Given the description of an element on the screen output the (x, y) to click on. 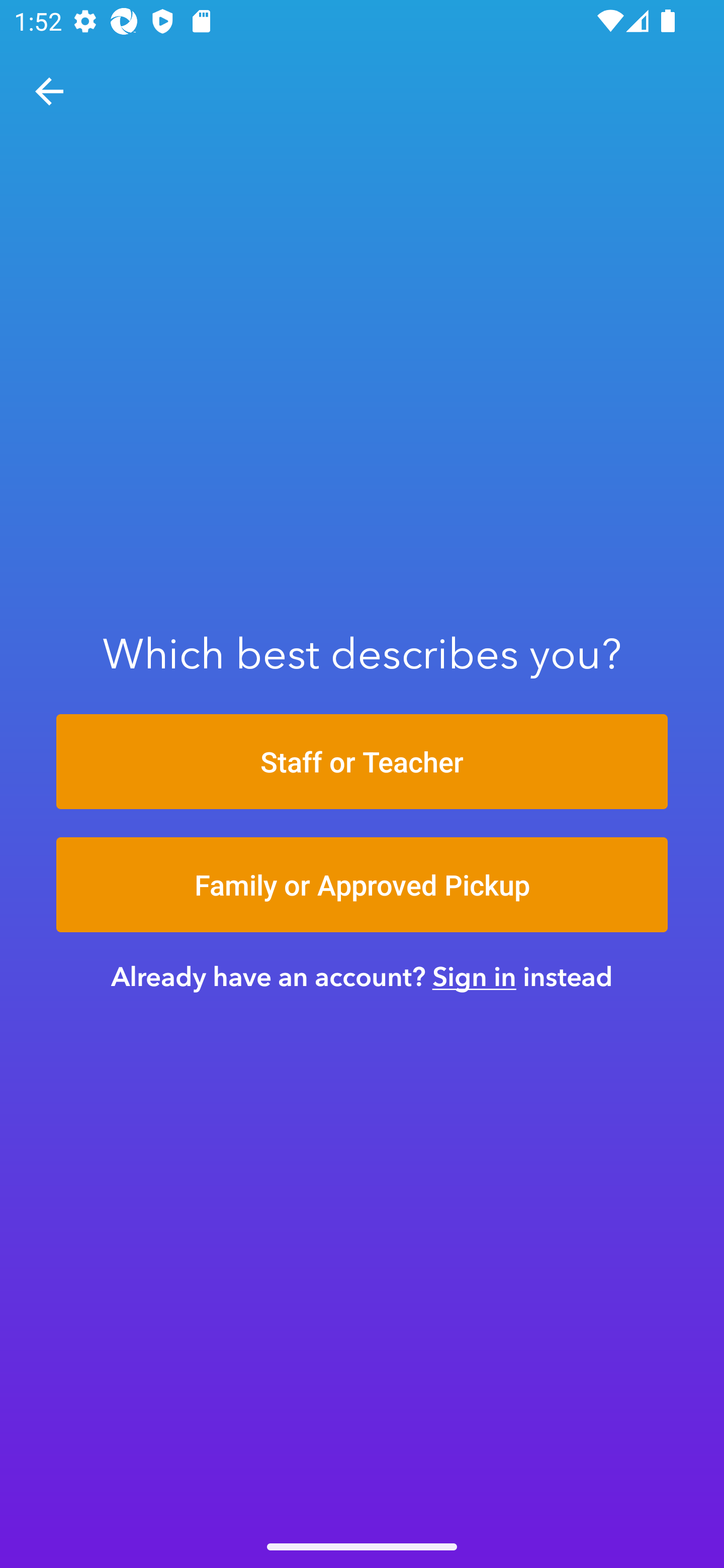
Navigate up (49, 91)
Staff or Teacher (361, 761)
Family or Approved Pickup (361, 884)
Already have an account? Sign in instead (361, 975)
